Given the description of an element on the screen output the (x, y) to click on. 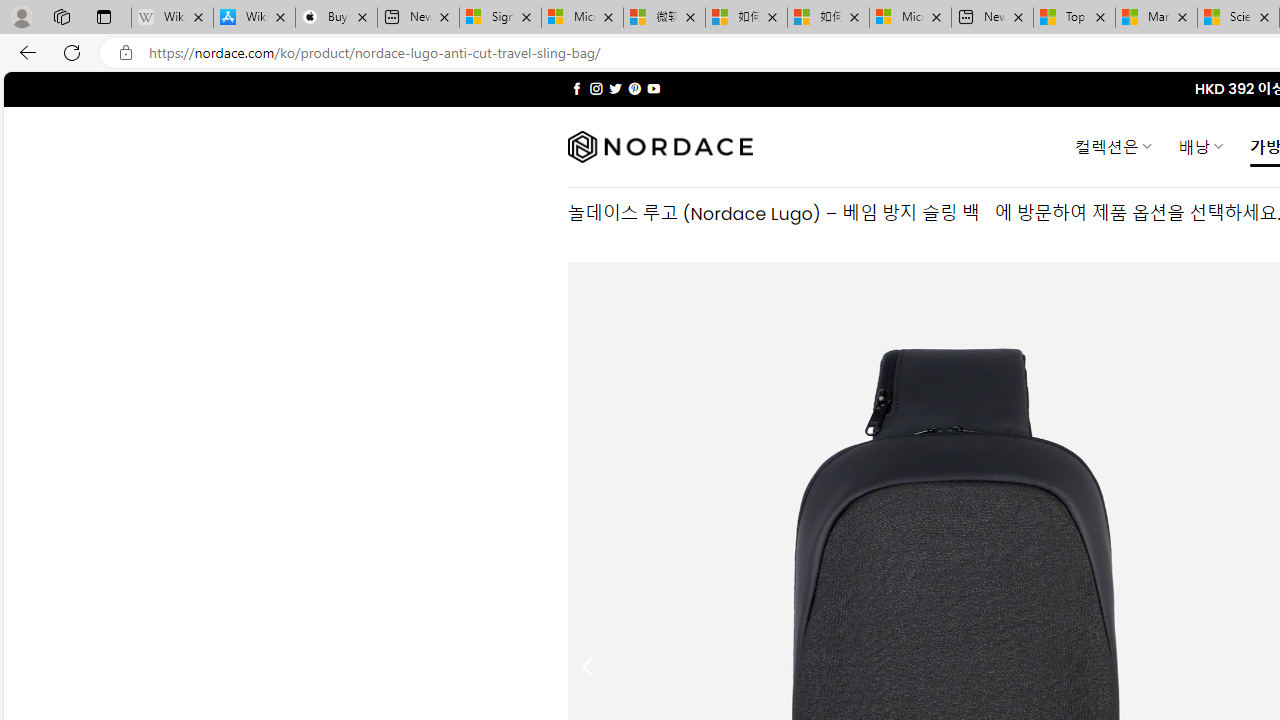
Buy iPad - Apple (336, 17)
Marine life - MSN (1156, 17)
Follow on Pinterest (634, 88)
Follow on Facebook (576, 88)
Top Stories - MSN (1074, 17)
